Given the description of an element on the screen output the (x, y) to click on. 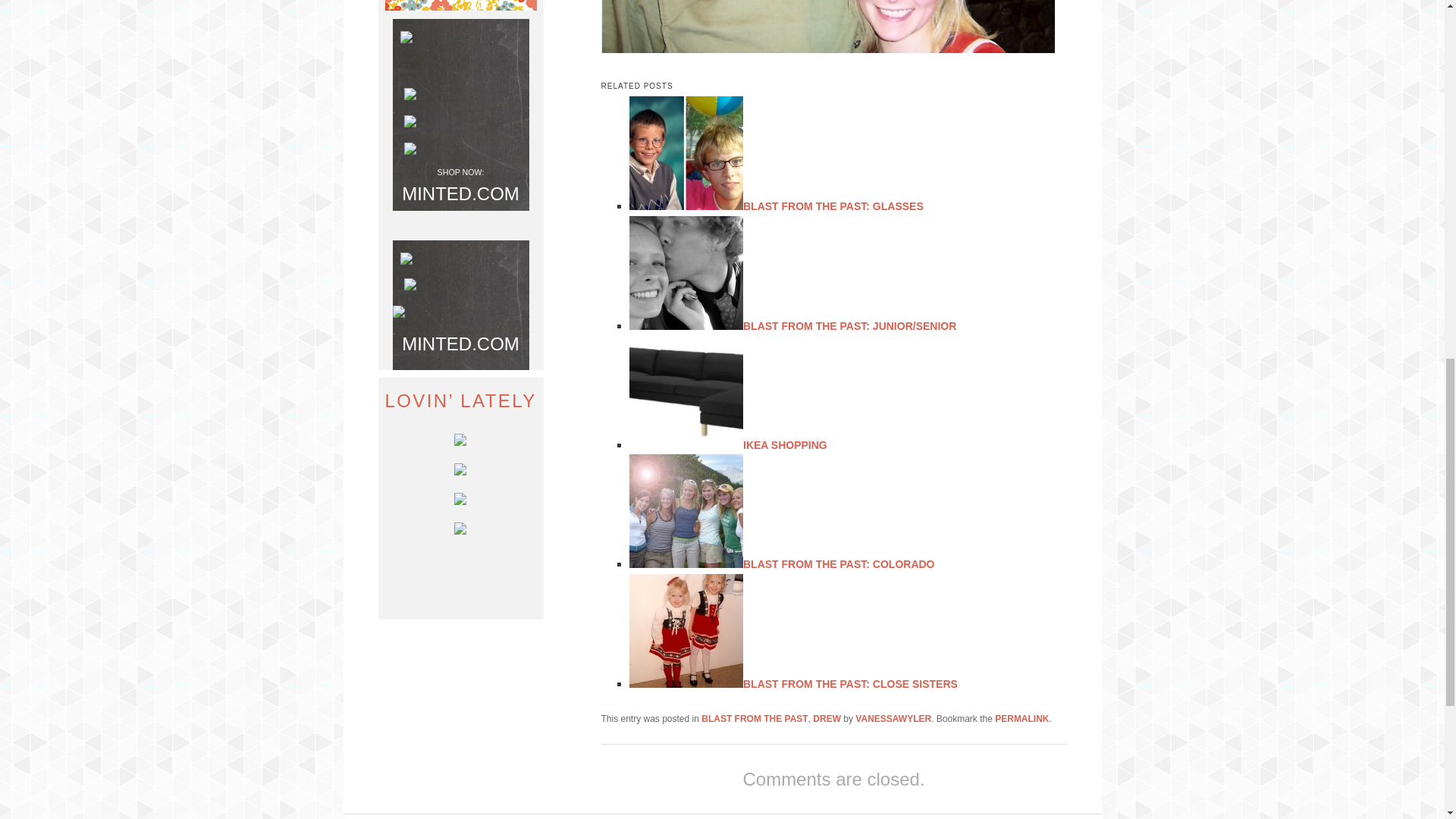
Permalink to Blast from the Past (1021, 718)
BLAST FROM THE PAST: GLASSES (832, 205)
IKEA SHOPPING (784, 444)
sound-of-music-blog (826, 26)
BLAST FROM THE PAST: CLOSE SISTERS (850, 684)
PERMALINK (1021, 718)
DREW (826, 718)
BLAST FROM THE PAST: COLORADO (838, 563)
BLAST FROM THE PAST (754, 718)
MINTED.COM (460, 193)
VANESSAWYLER (893, 718)
